Given the description of an element on the screen output the (x, y) to click on. 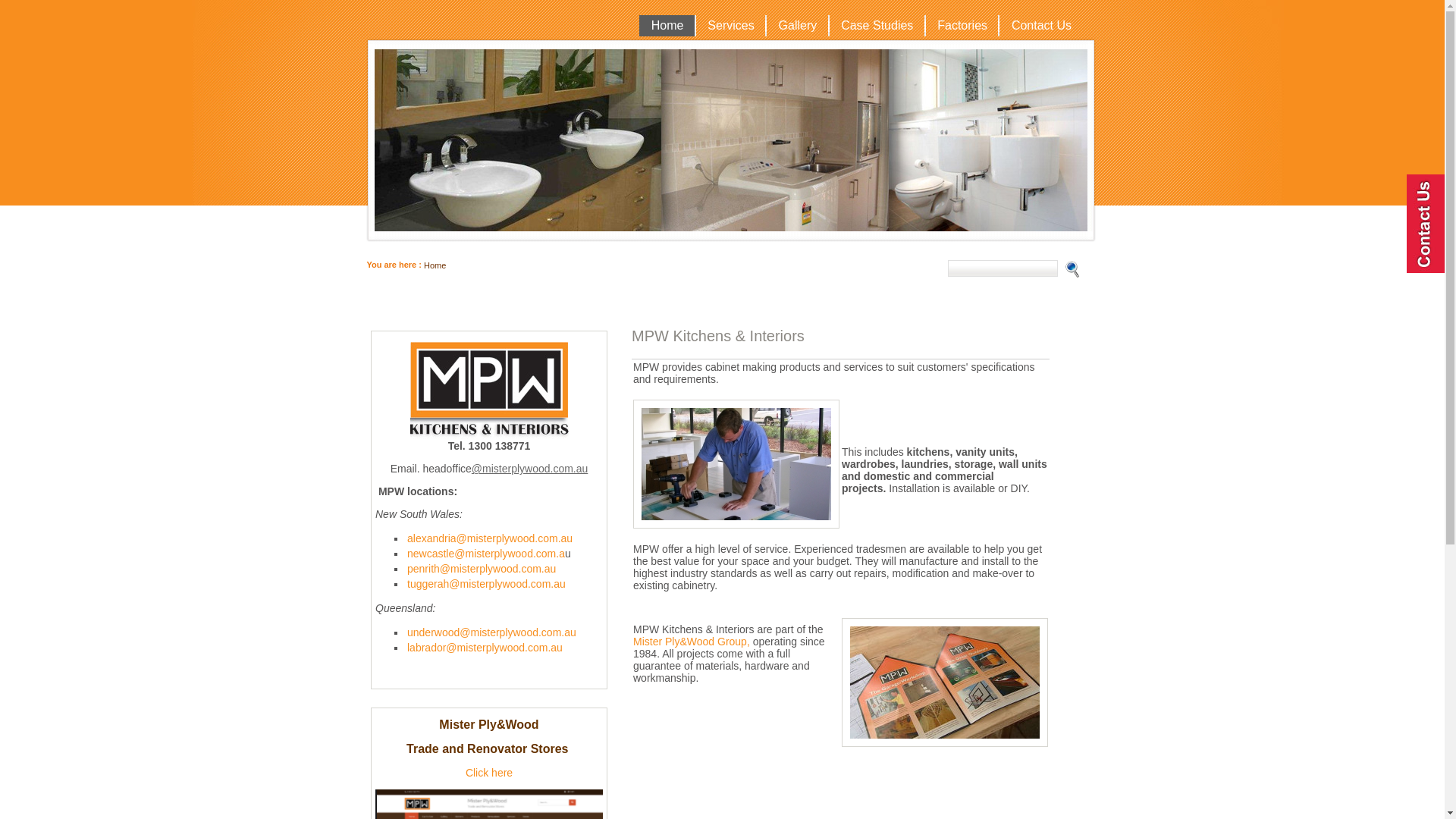
 Case Studies  Element type: text (876, 25)
 Services  Element type: text (730, 25)
 Home  Element type: text (666, 25)
underwood@misterplywood.com.au Element type: text (491, 632)
tuggerah@misterplywood.com.au Element type: text (486, 583)
penrith@misterplywood.com.au Element type: text (481, 568)
@misterplywood.com.au Element type: text (529, 468)
 Factories  Element type: text (961, 25)
alexandria@misterplywood.com.au Element type: text (489, 538)
Click here Element type: text (488, 772)
 Contact Us  Element type: text (1040, 25)
newcastle@misterplywood.com.a Element type: text (485, 553)
 Gallery  Element type: text (797, 25)
labrador@misterplywood.com.au Element type: text (484, 647)
Mister Ply&Wood Group, Element type: text (691, 641)
Home Element type: text (434, 264)
